Given the description of an element on the screen output the (x, y) to click on. 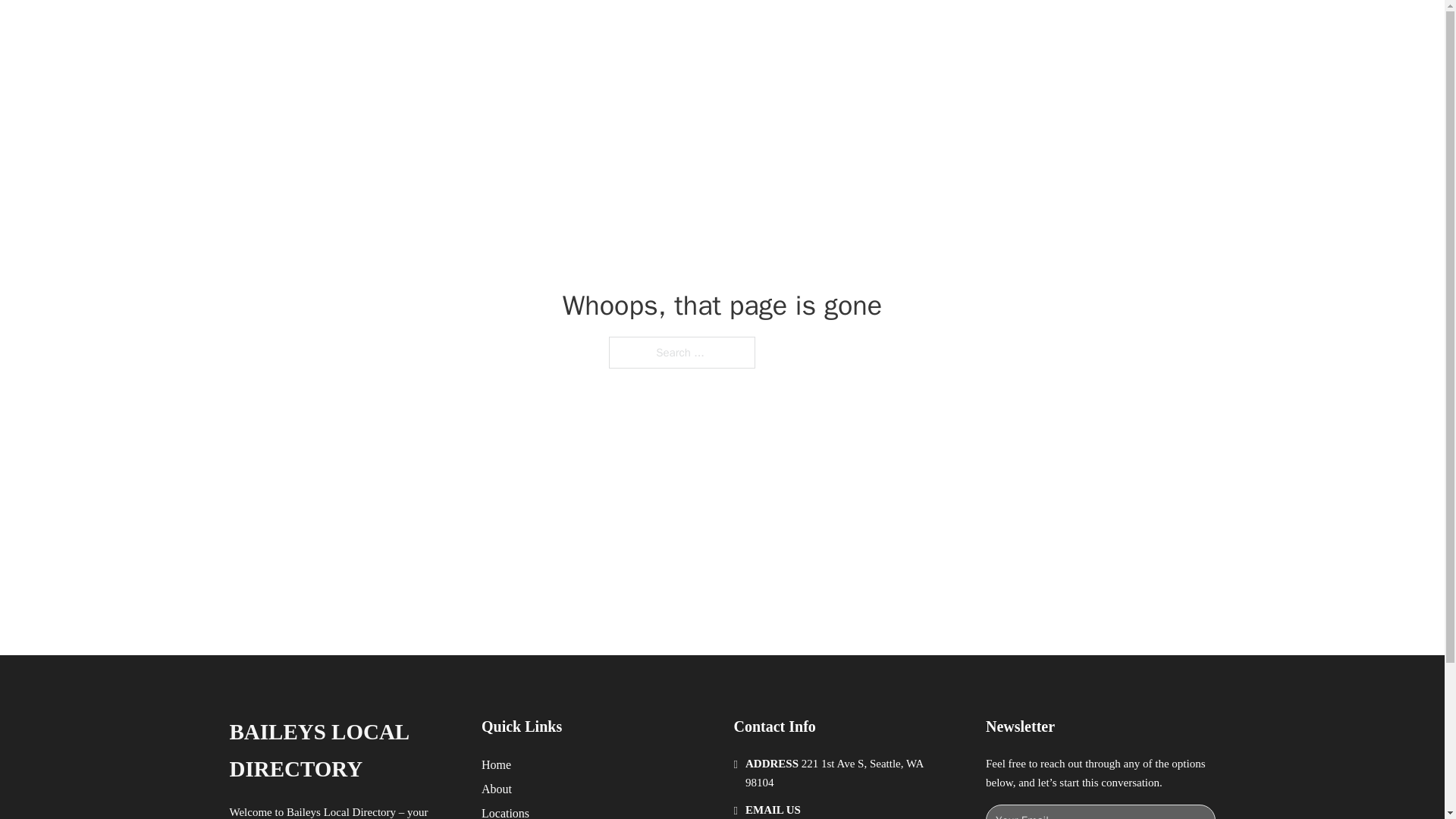
Home (496, 764)
About (496, 788)
Locations (505, 811)
LOCATIONS (990, 29)
HOME (919, 29)
BAILEYS LOCAL DIRECTORY (444, 28)
BAILEYS LOCAL DIRECTORY (343, 750)
